Given the description of an element on the screen output the (x, y) to click on. 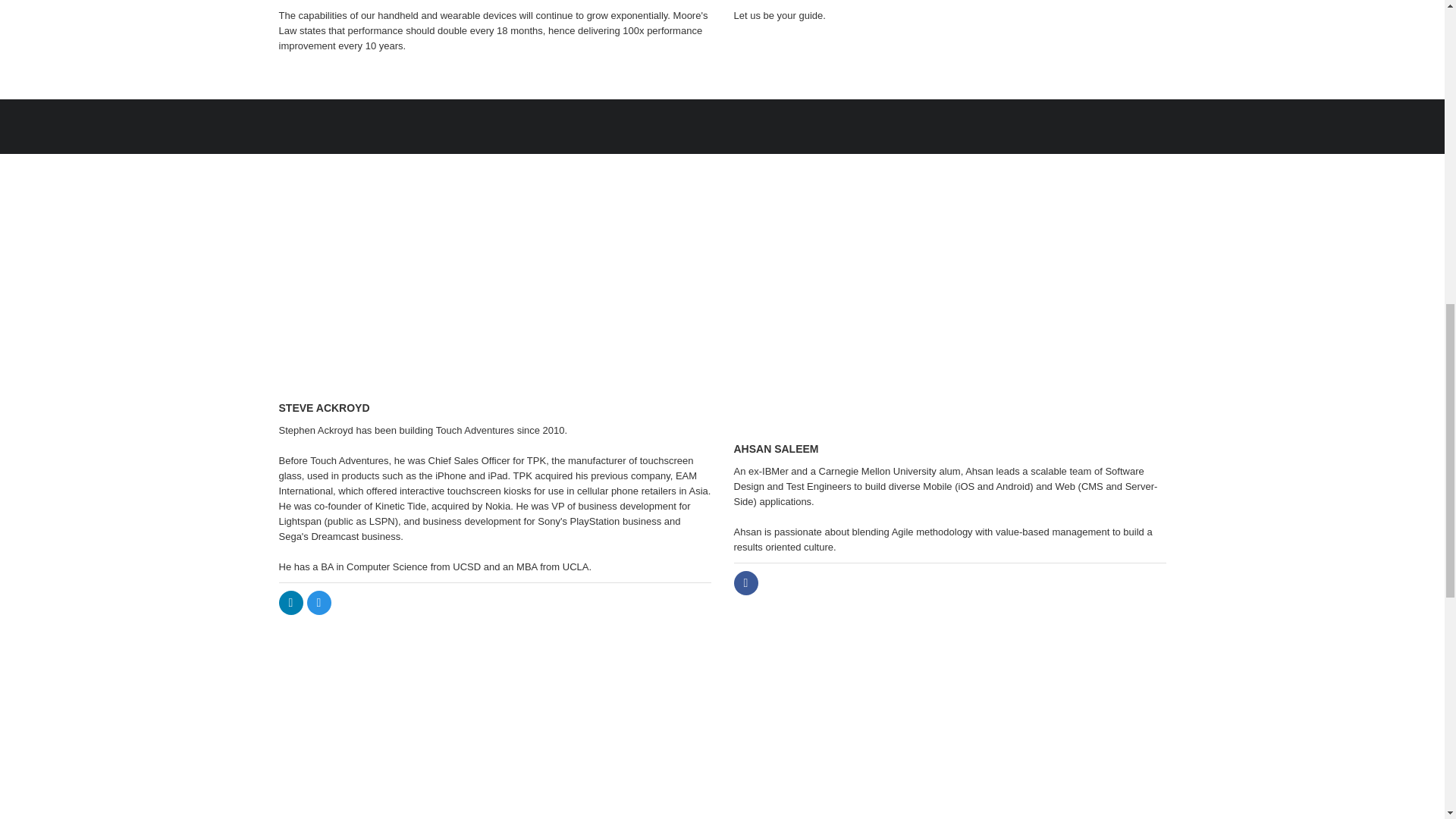
Facebook (745, 582)
LinkedIn (290, 602)
